Given the description of an element on the screen output the (x, y) to click on. 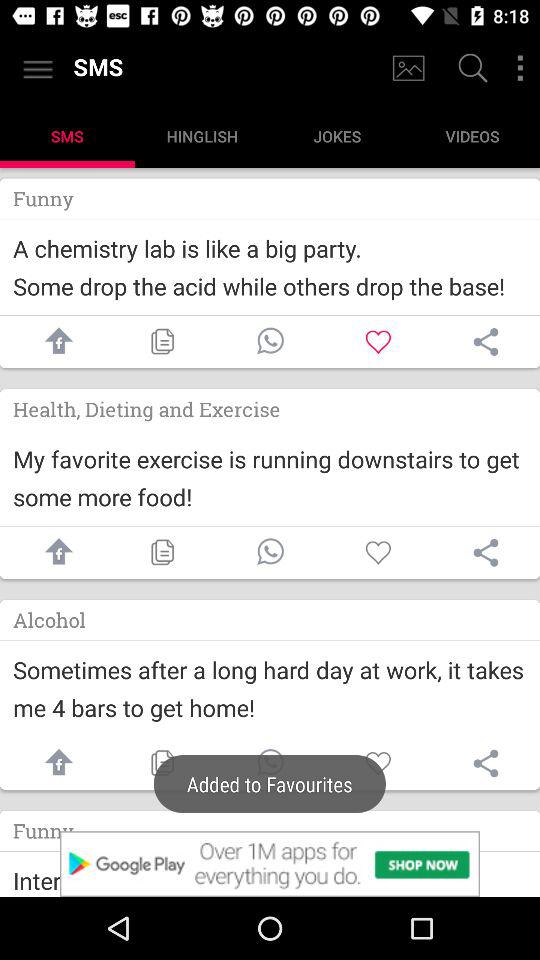
share button (486, 341)
